Given the description of an element on the screen output the (x, y) to click on. 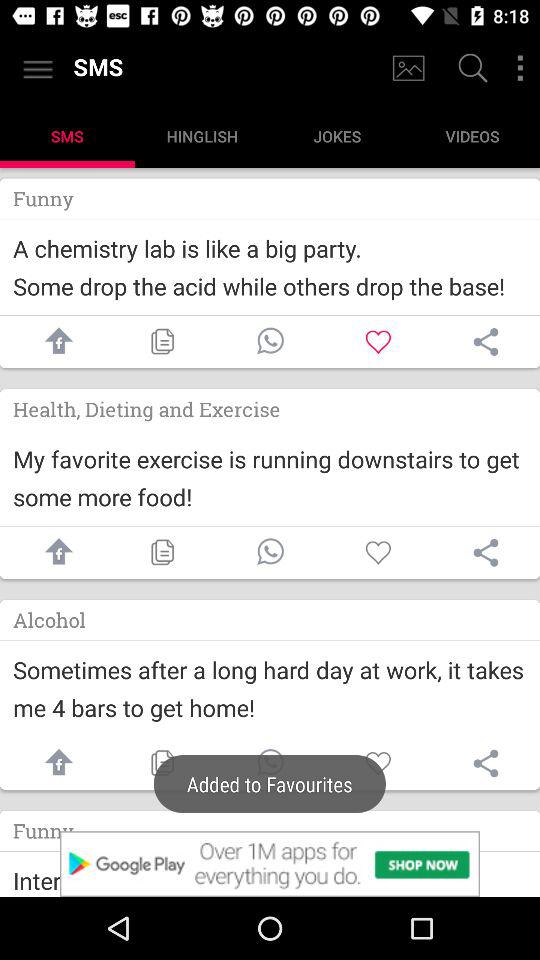
share button (486, 341)
